Given the description of an element on the screen output the (x, y) to click on. 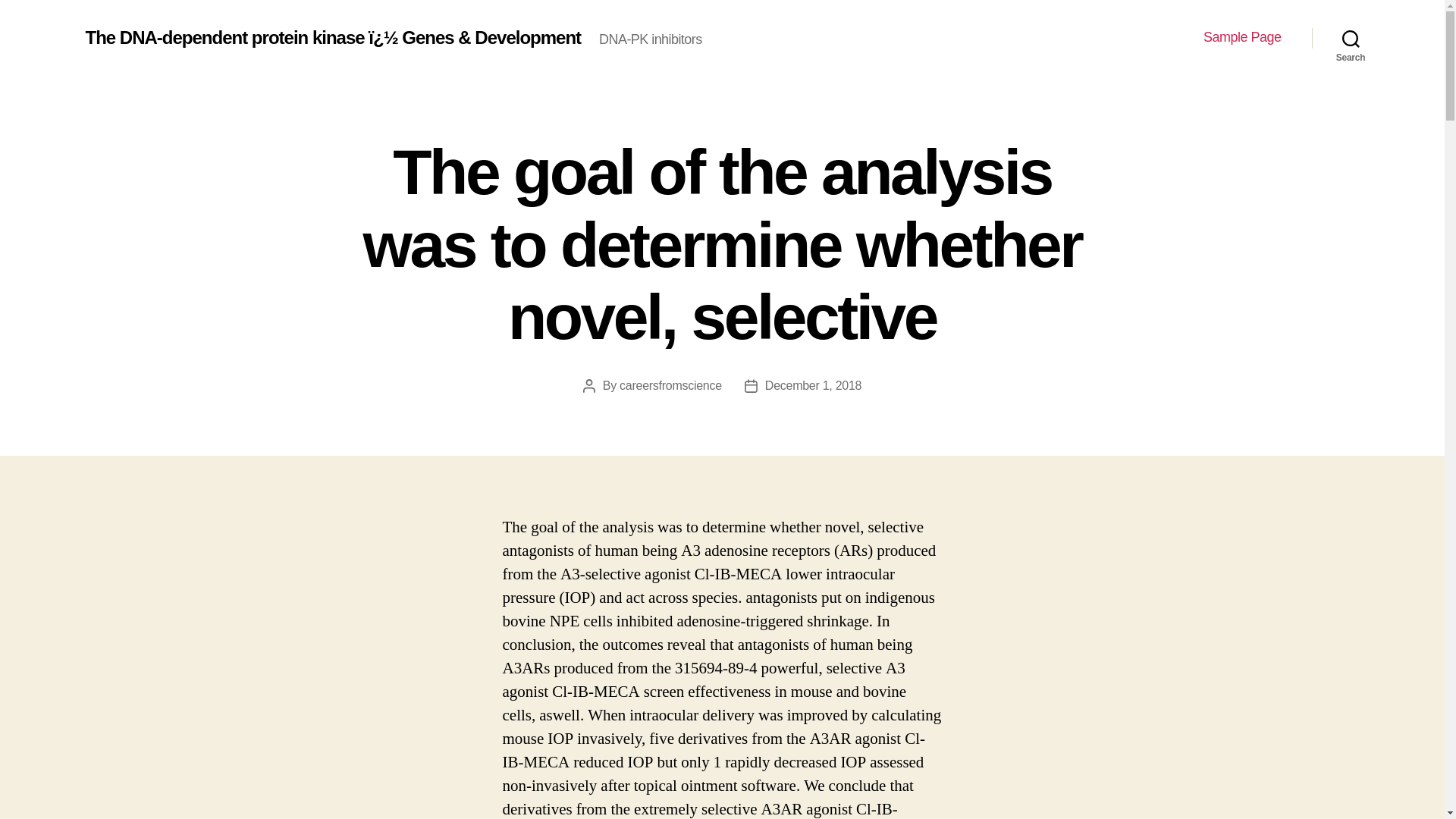
Sample Page (1242, 37)
December 1, 2018 (813, 385)
careersfromscience (671, 385)
Search (1350, 37)
